Given the description of an element on the screen output the (x, y) to click on. 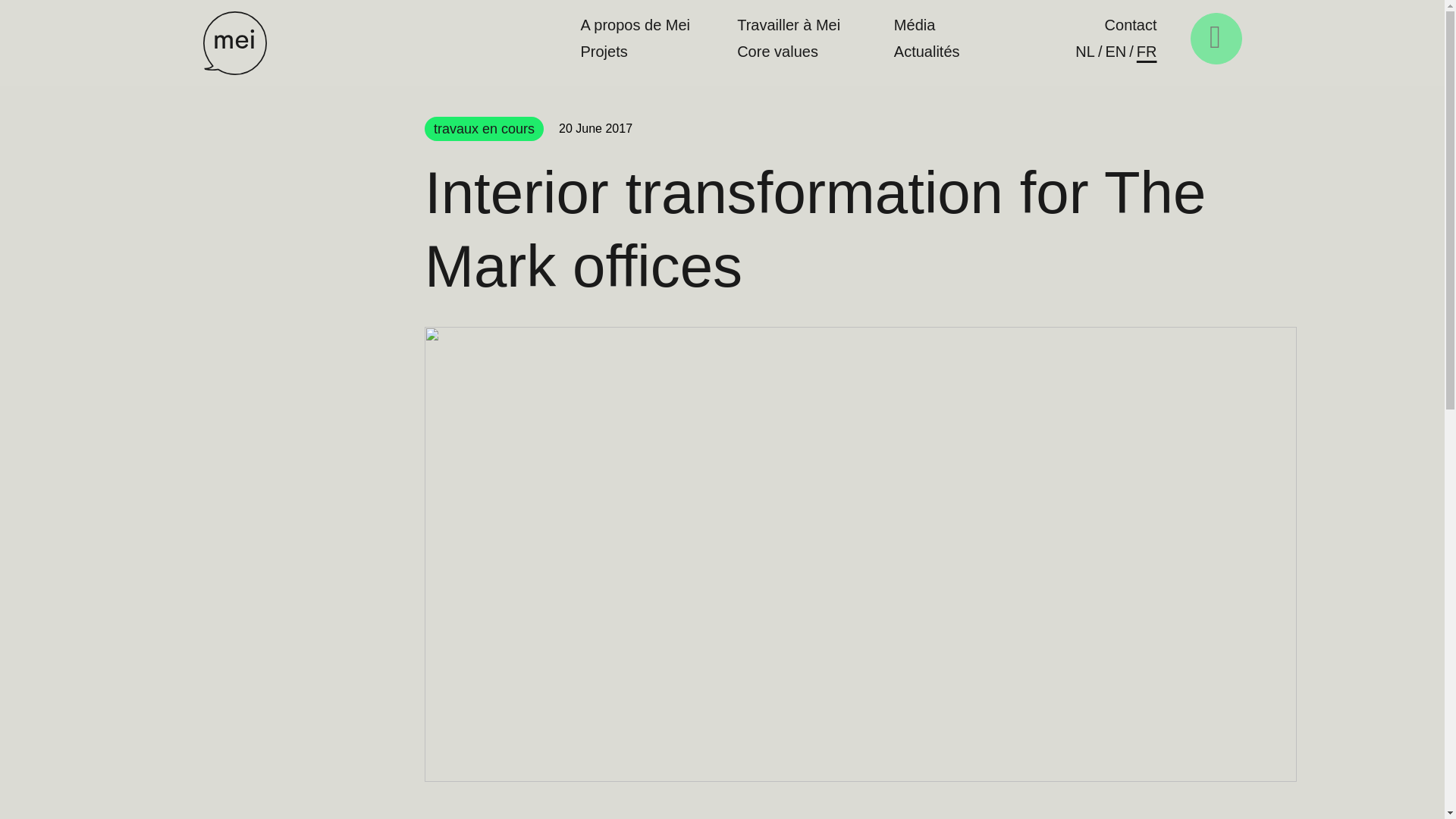
Media (914, 25)
Core values (788, 52)
NL (1084, 51)
NL (1084, 51)
Ga direct naar de inhoud (31, 20)
EN (1115, 51)
Core Values (788, 52)
Projets (615, 52)
Contact (1131, 25)
A propos de Mei (636, 25)
